Given the description of an element on the screen output the (x, y) to click on. 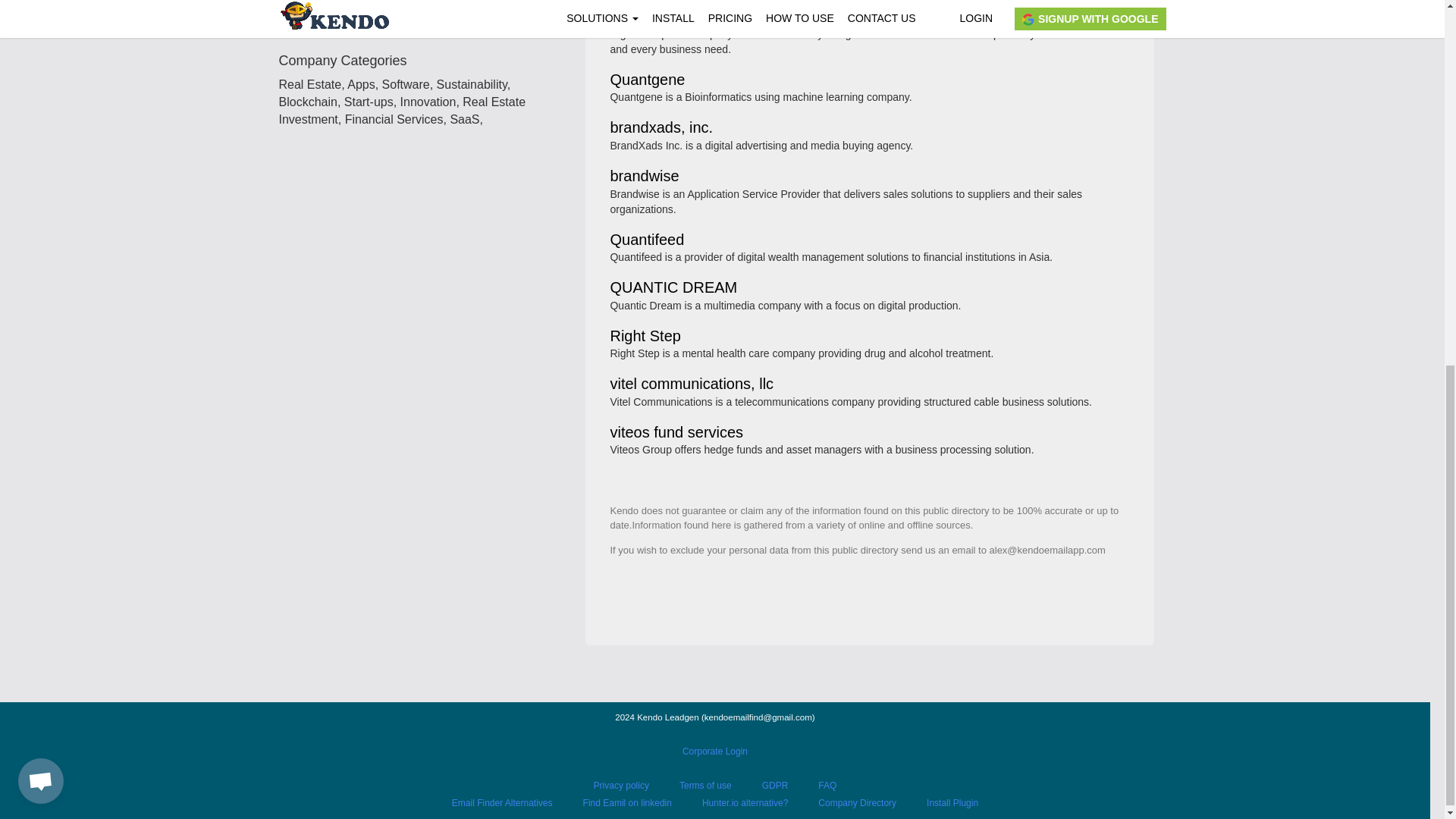
Quantifeed (647, 240)
right group (646, 16)
Quantgene (647, 80)
viteos fund services (676, 432)
brandxads, inc. (661, 128)
QUANTIC DREAM (673, 287)
Find anyone's contact info. (425, 20)
Right Step (644, 336)
brandwise (644, 176)
vitel communications, llc (691, 384)
